Given the description of an element on the screen output the (x, y) to click on. 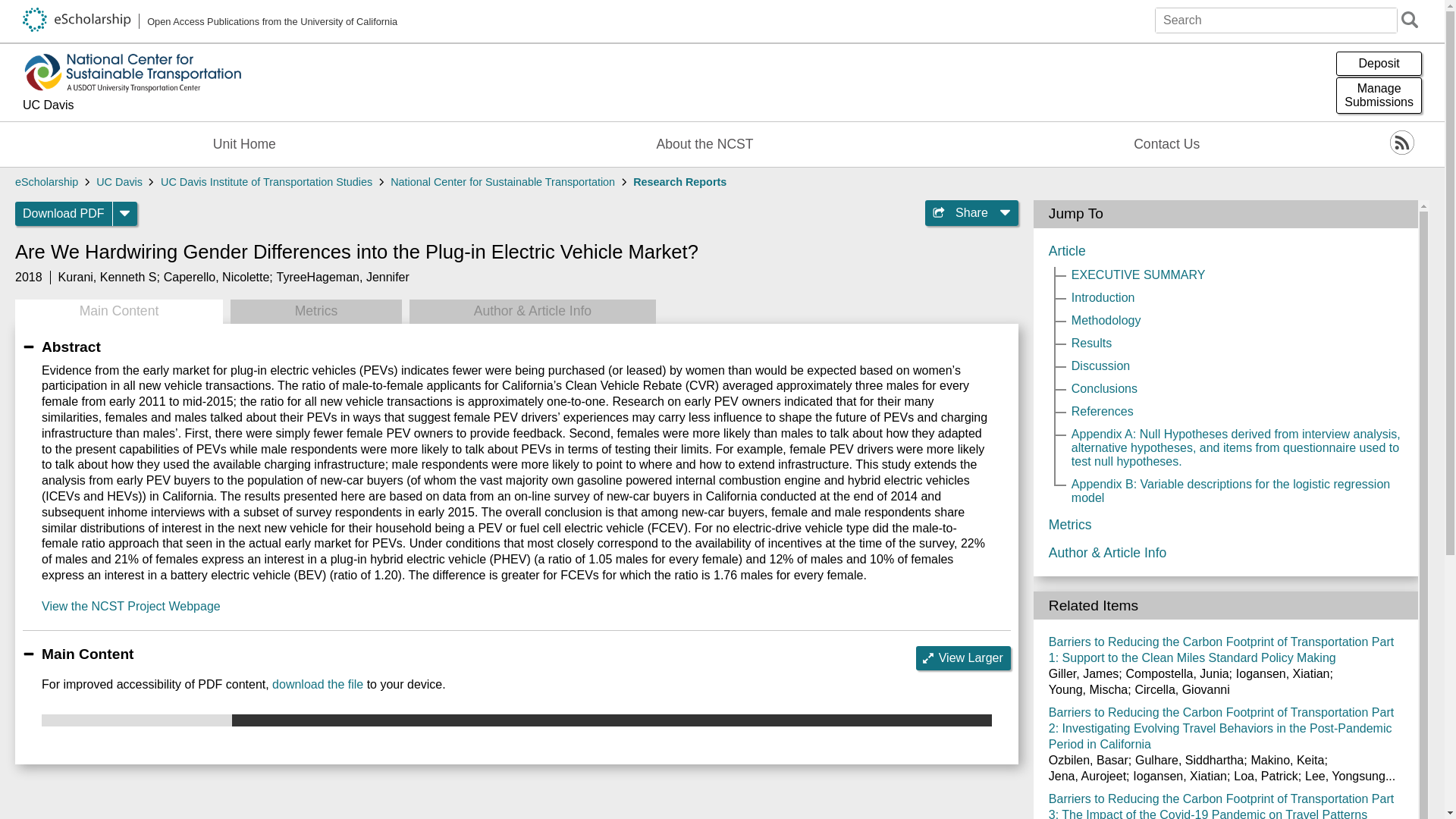
View Larger (962, 658)
UC Davis (119, 182)
Open Access Publications from the University of California (210, 21)
Main Content (118, 311)
Kurani, Kenneth S (107, 277)
download the file (317, 684)
View the NCST Project Webpage (1379, 94)
Download PDF (131, 605)
TyreeHageman, Jennifer (63, 213)
